Given the description of an element on the screen output the (x, y) to click on. 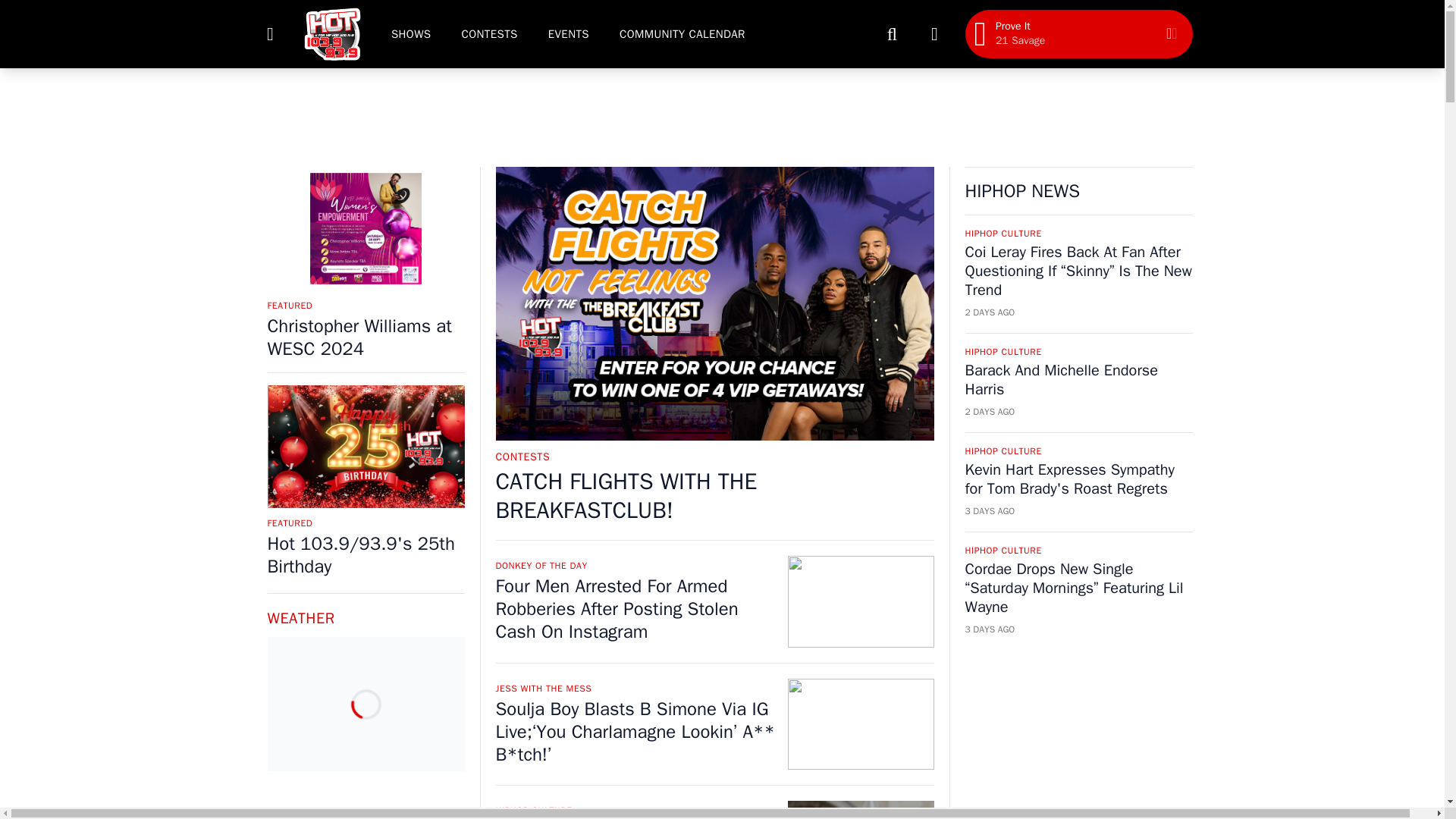
3rd party ad content (1077, 734)
COMMUNITY CALENDAR (682, 33)
3rd party ad content (721, 117)
Hot 103.9 (330, 33)
